Given the description of an element on the screen output the (x, y) to click on. 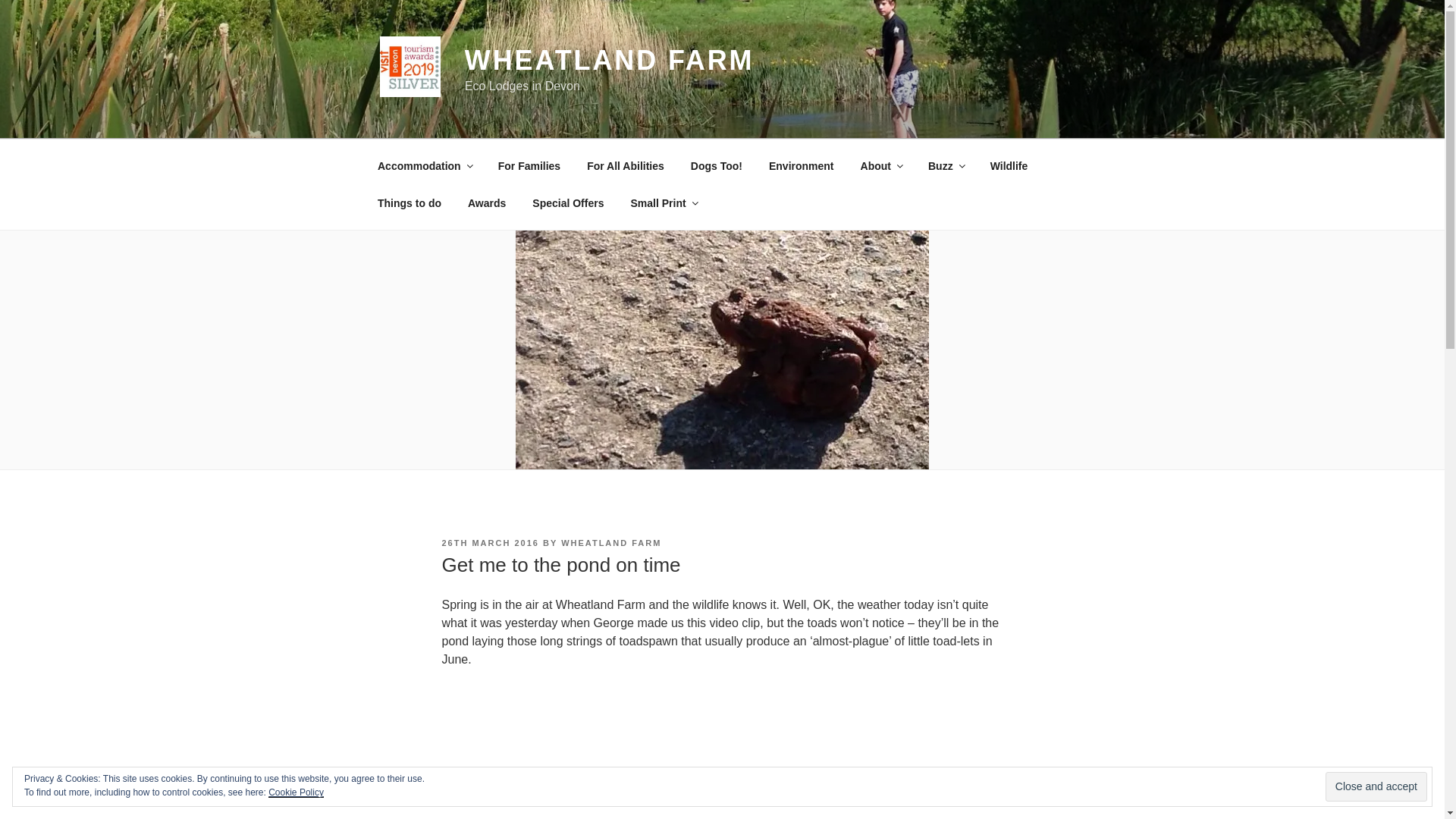
Things to do (409, 203)
Accommodation (424, 165)
WHEATLAND FARM (609, 60)
About (880, 165)
Special Offers (568, 203)
WHEATLAND FARM (610, 542)
26TH MARCH 2016 (489, 542)
Wildlife (1008, 165)
Small Print (663, 203)
Buzz (945, 165)
For Families (528, 165)
Environment (801, 165)
Awards (486, 203)
Dogs Too! (716, 165)
Close and accept (1375, 786)
